Given the description of an element on the screen output the (x, y) to click on. 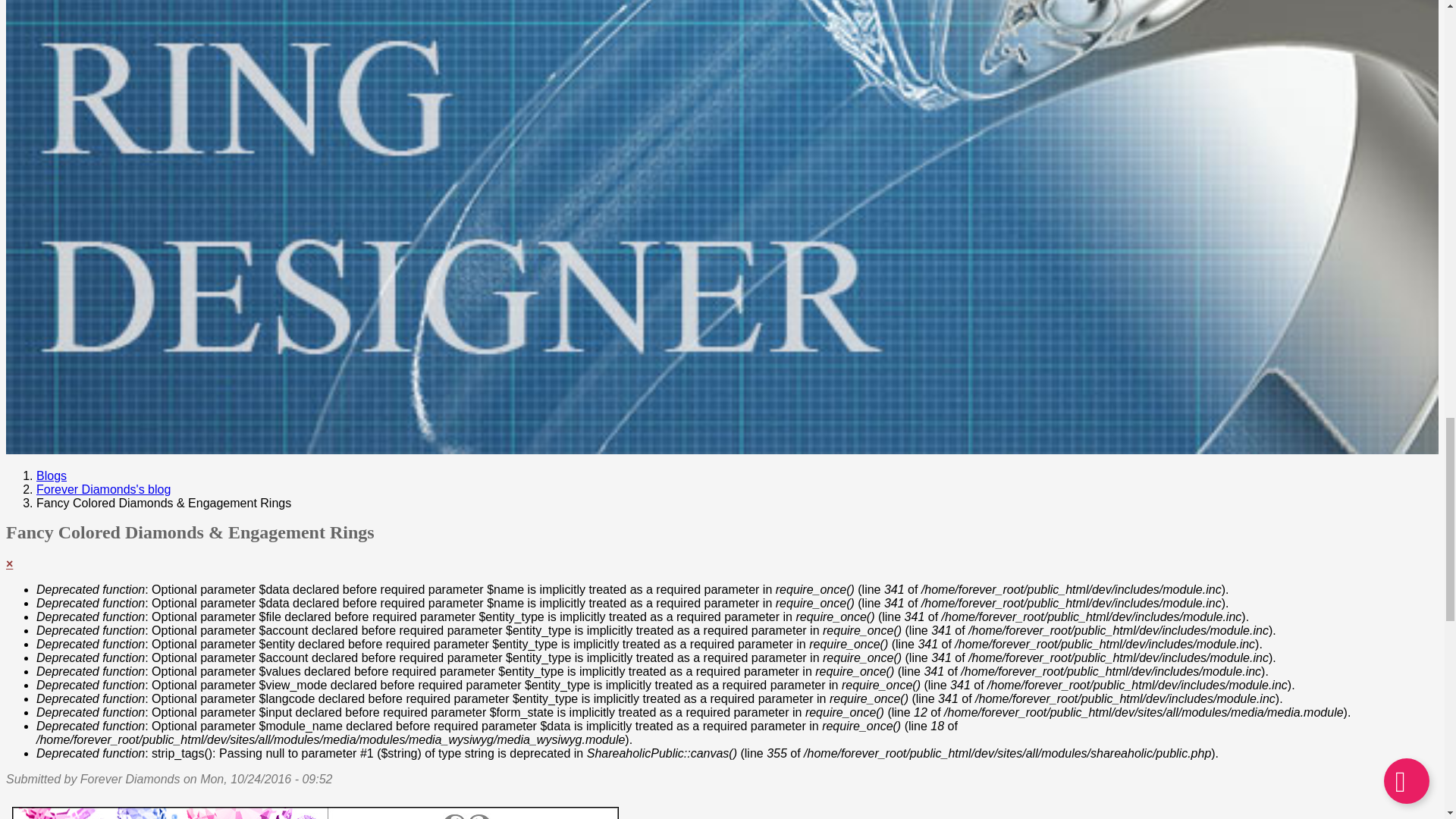
Blogs (51, 475)
Forever Diamonds's blog (103, 489)
